Given the description of an element on the screen output the (x, y) to click on. 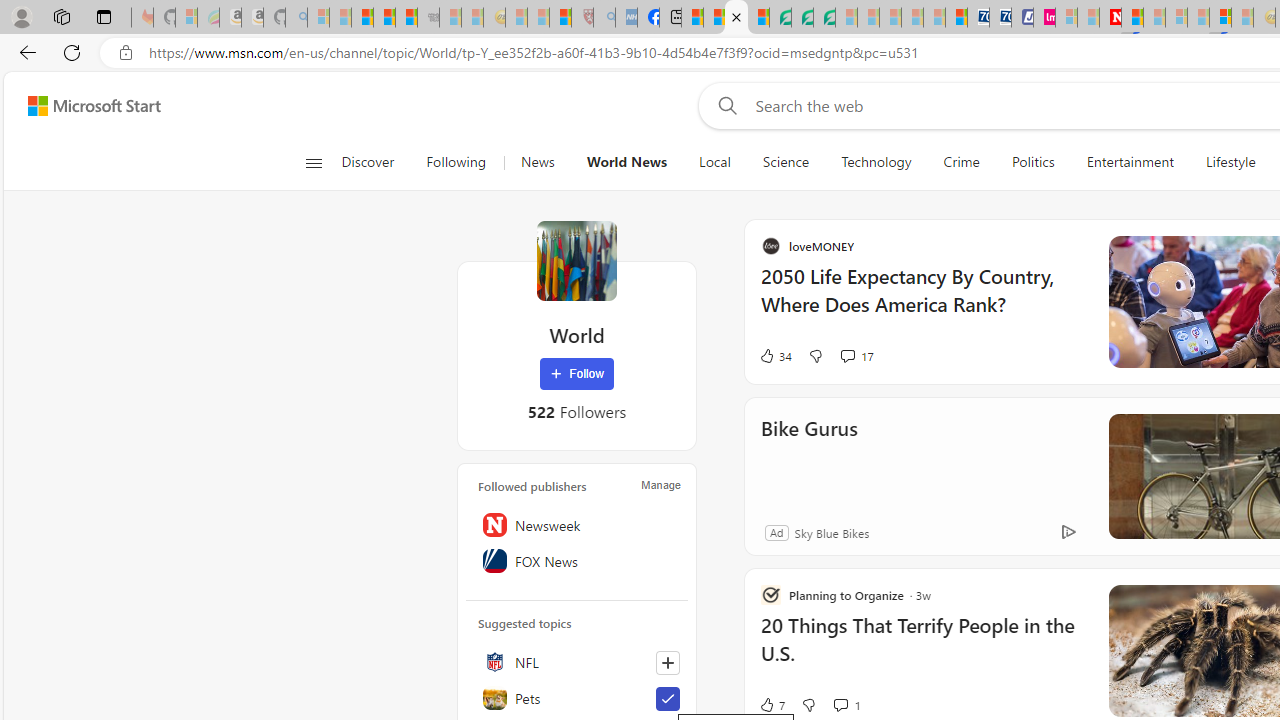
Terms of Use Agreement (802, 17)
View comments 17 Comment (1040, 355)
FOX News (577, 561)
Cheap Hotels - Save70.com (1000, 17)
Latest Politics News & Archive | Newsweek.com (1110, 17)
The Weather Channel - MSN (362, 17)
